Given the description of an element on the screen output the (x, y) to click on. 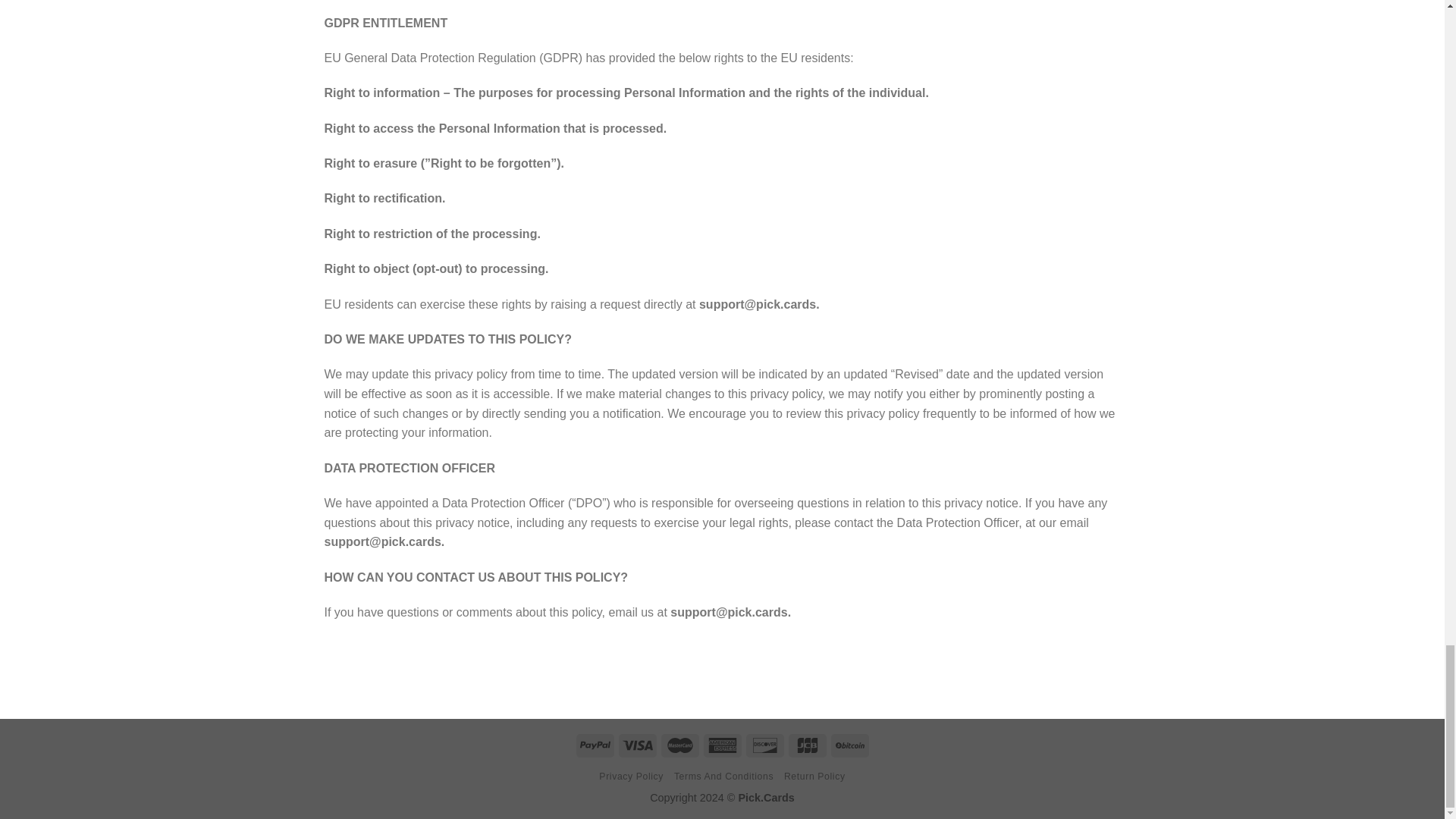
Privacy Policy (630, 776)
Return Policy (814, 776)
Terms And Conditions (723, 776)
